Given the description of an element on the screen output the (x, y) to click on. 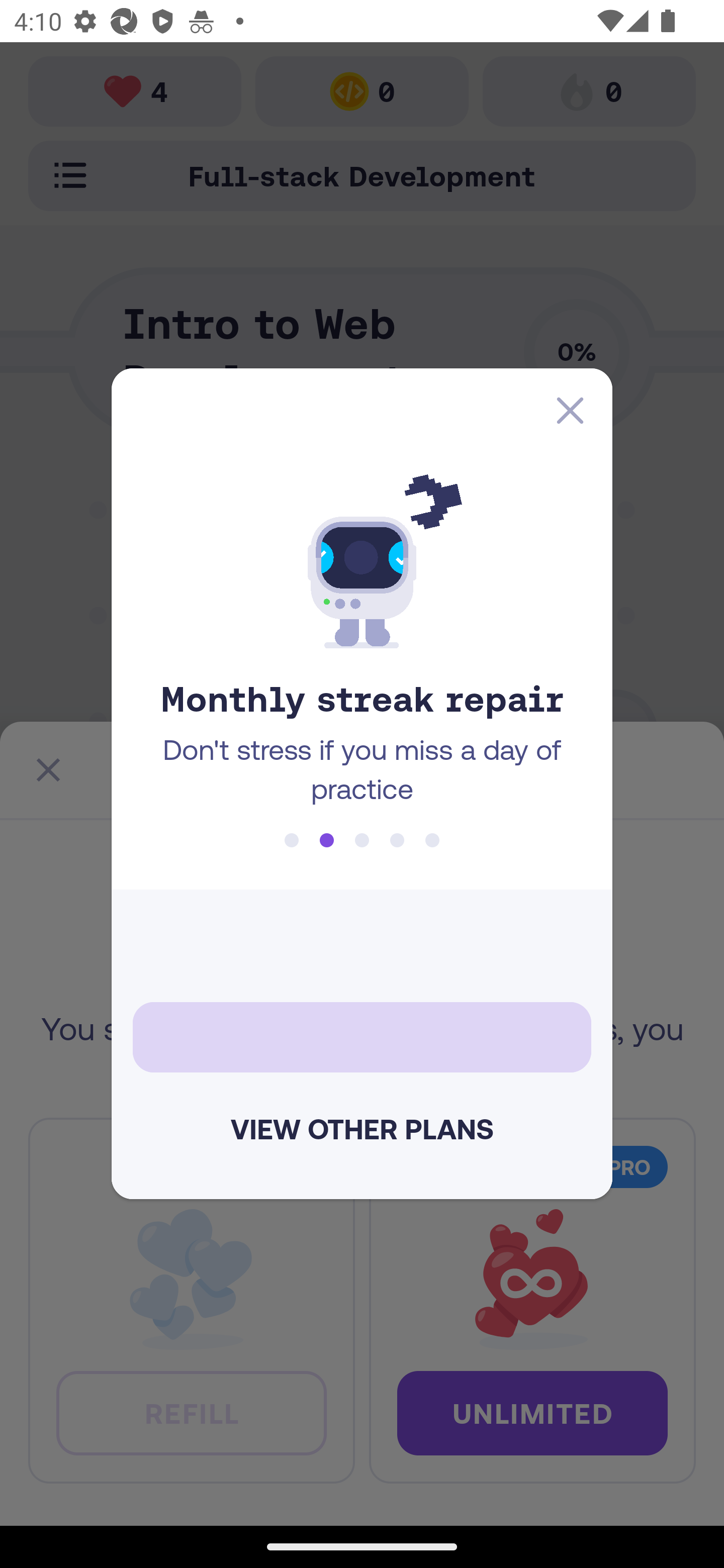
VIEW OTHER PLANS (362, 1128)
